Given the description of an element on the screen output the (x, y) to click on. 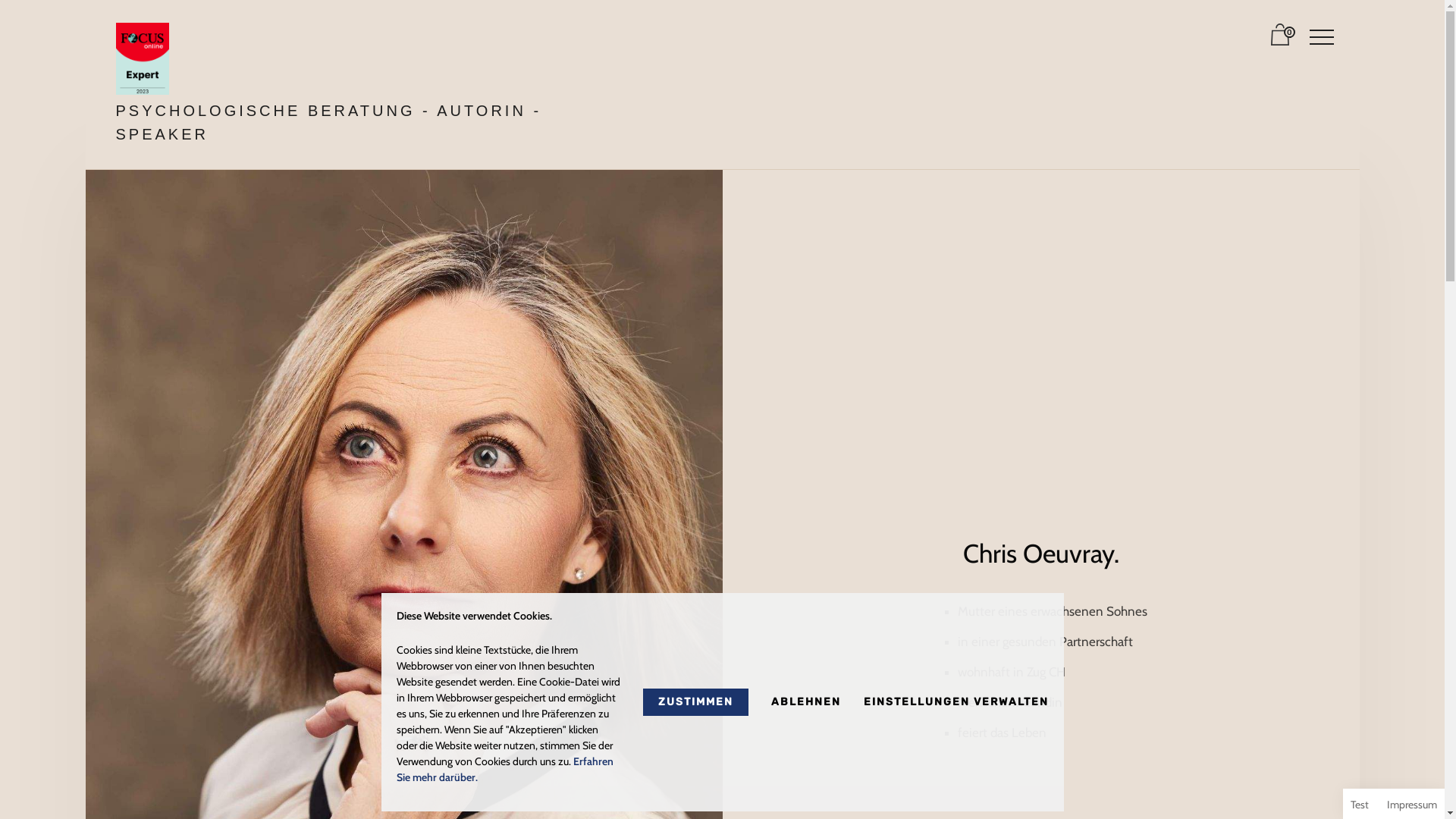
EINSTELLUNGEN VERWALTEN Element type: text (955, 701)
ZUSTIMMEN Element type: text (695, 701)
Impressum Element type: text (1411, 804)
PSYCHOLOGISCHE BERATUNG - AUTORIN - SPEAKER Element type: text (328, 122)
ABLEHNEN Element type: text (805, 701)
WARENKORB:
0 Element type: text (1280, 38)
Test Element type: text (1359, 804)
Chris Oeuvray Consulting Element type: hover (141, 58)
